Given the description of an element on the screen output the (x, y) to click on. 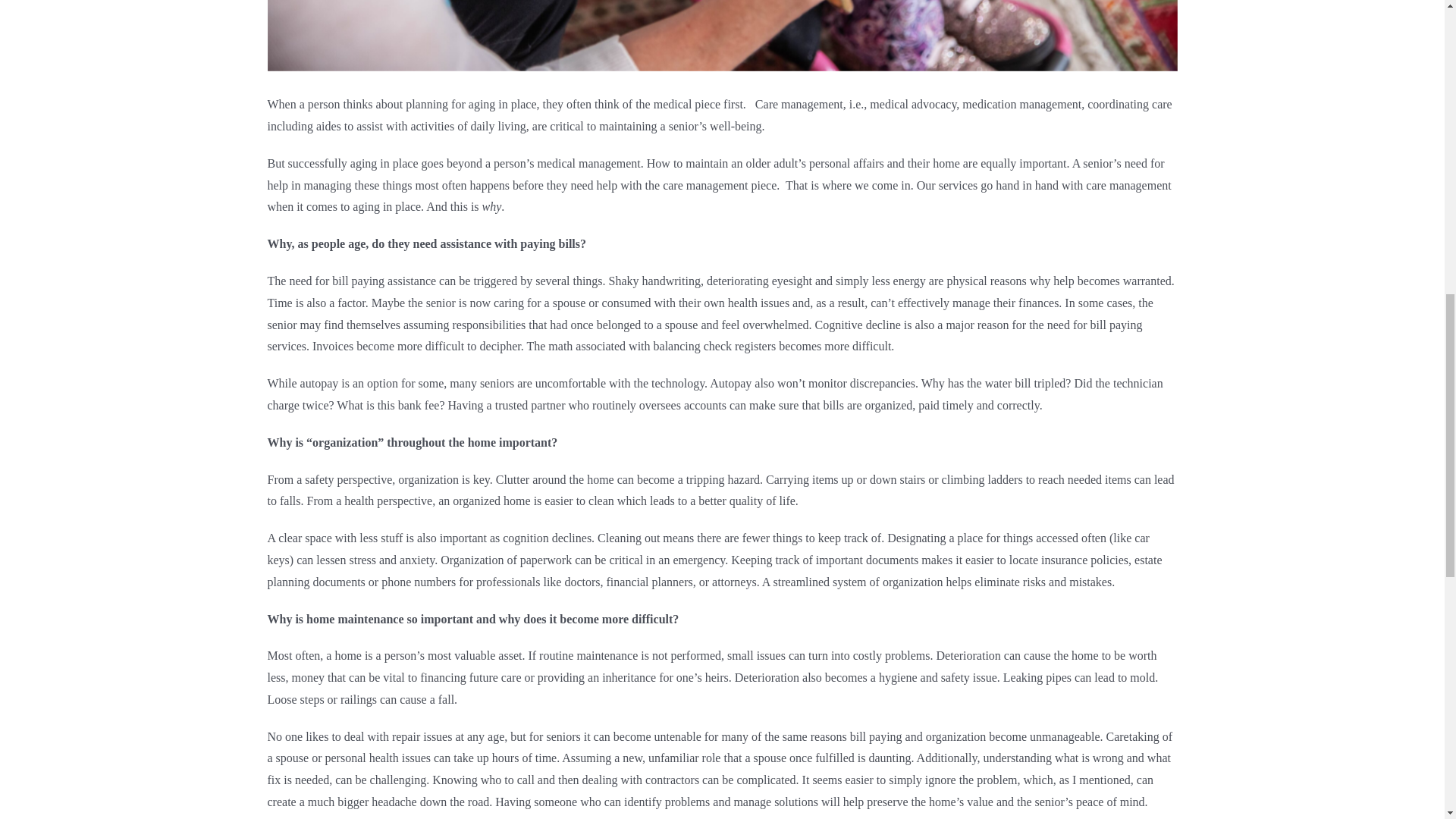
View Larger Image (721, 35)
